Given the description of an element on the screen output the (x, y) to click on. 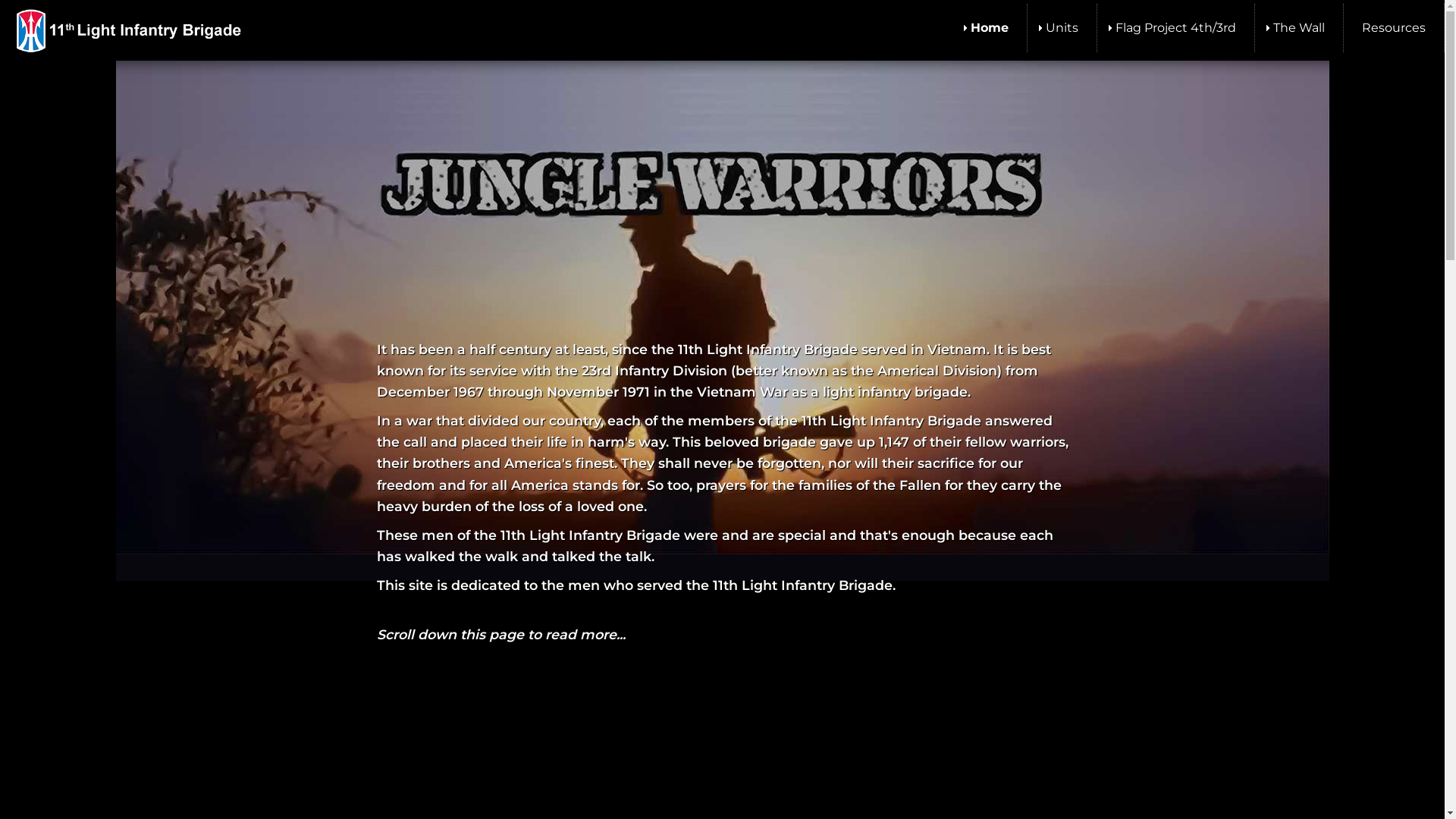
Units Element type: text (1061, 27)
The Wall Element type: text (1299, 27)
Home Element type: text (989, 27)
Flag Project 4th/3rd Element type: text (1175, 27)
Resources Element type: text (1393, 27)
